Given the description of an element on the screen output the (x, y) to click on. 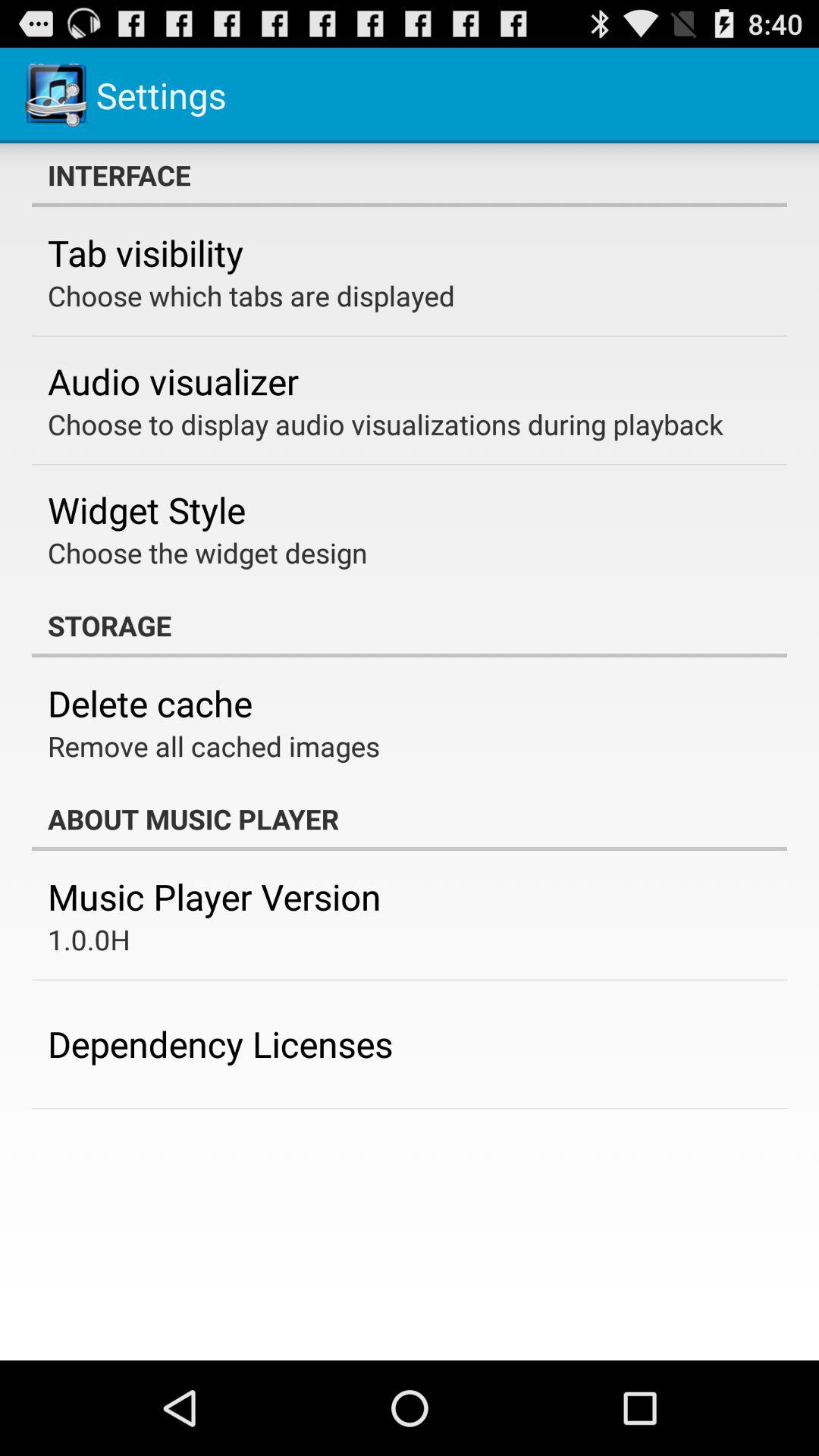
turn on the app at the bottom left corner (220, 1043)
